Given the description of an element on the screen output the (x, y) to click on. 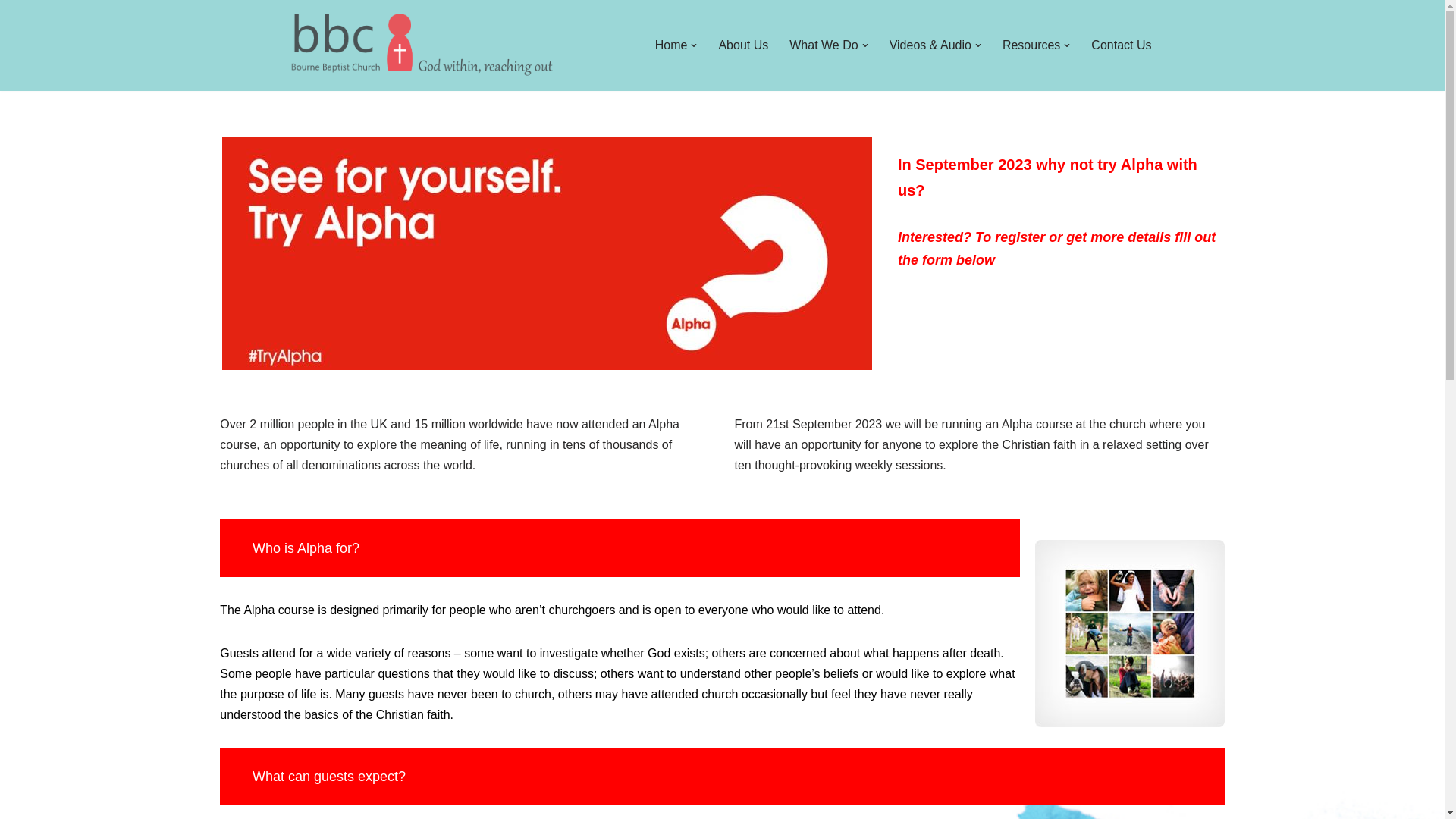
Skip to content (11, 31)
Contact Us (1120, 45)
Resources (1031, 45)
What We Do (823, 45)
